Given the description of an element on the screen output the (x, y) to click on. 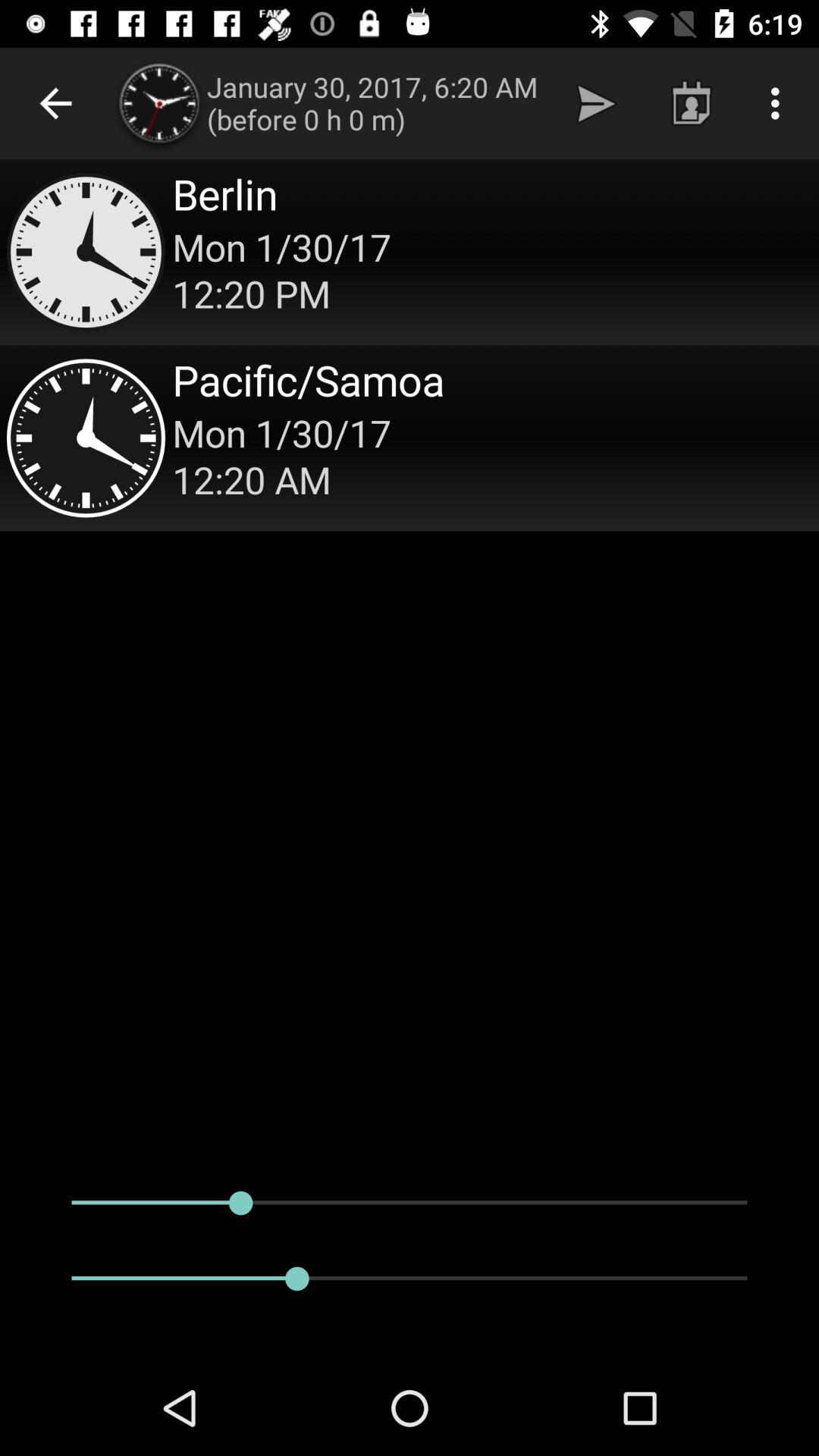
press item to the right of january 30 2017 (595, 103)
